Given the description of an element on the screen output the (x, y) to click on. 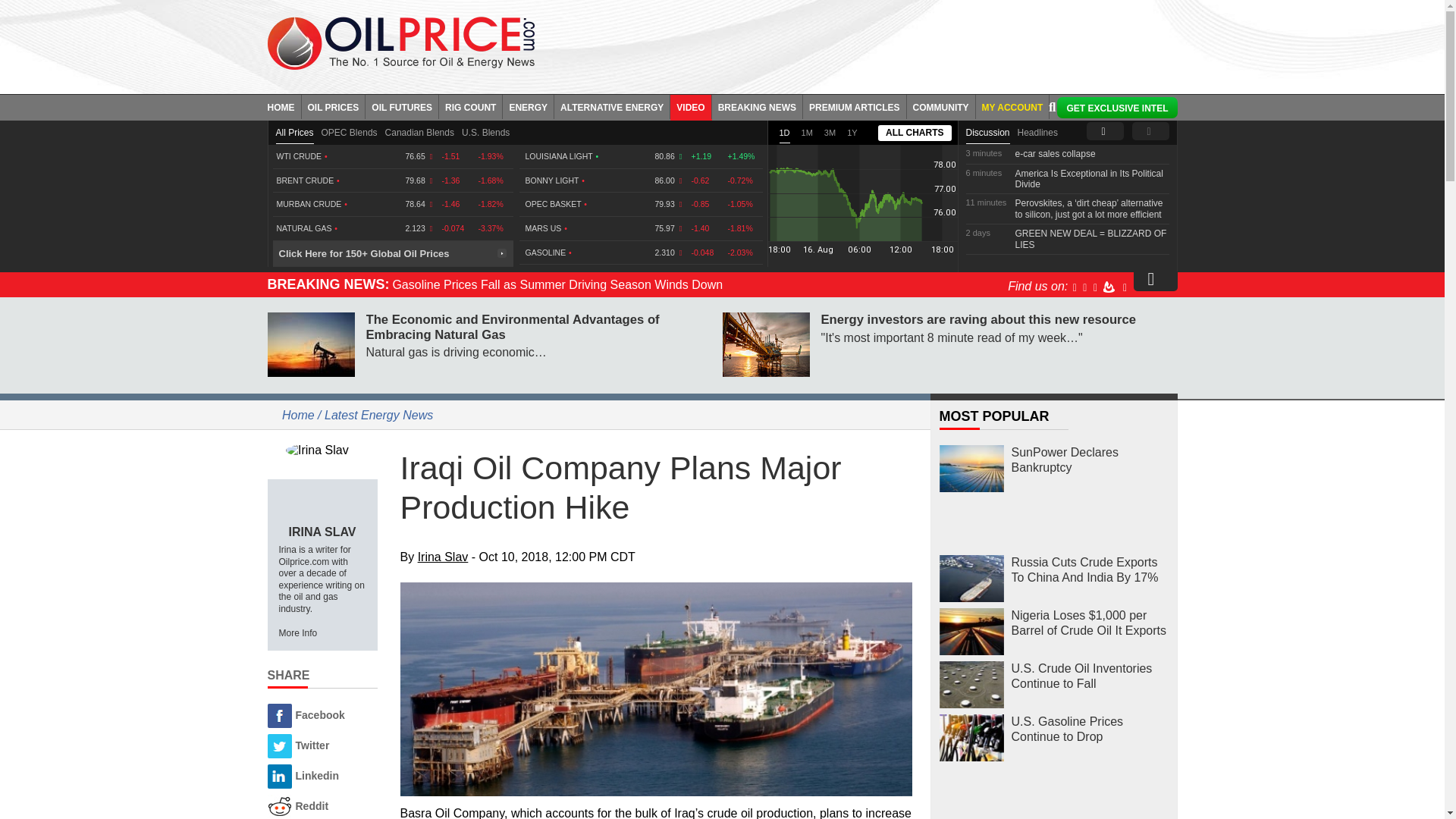
ALTERNATIVE ENERGY (611, 106)
U.S. Gasoline Prices Continue to Drop (971, 738)
RIG COUNT (470, 106)
SunPower Declares Bankruptcy (971, 469)
OIL PRICES (333, 106)
HOME (283, 106)
ENERGY (528, 106)
VIDEO (690, 106)
Irina Slav (321, 449)
COMMUNITY (941, 106)
